Given the description of an element on the screen output the (x, y) to click on. 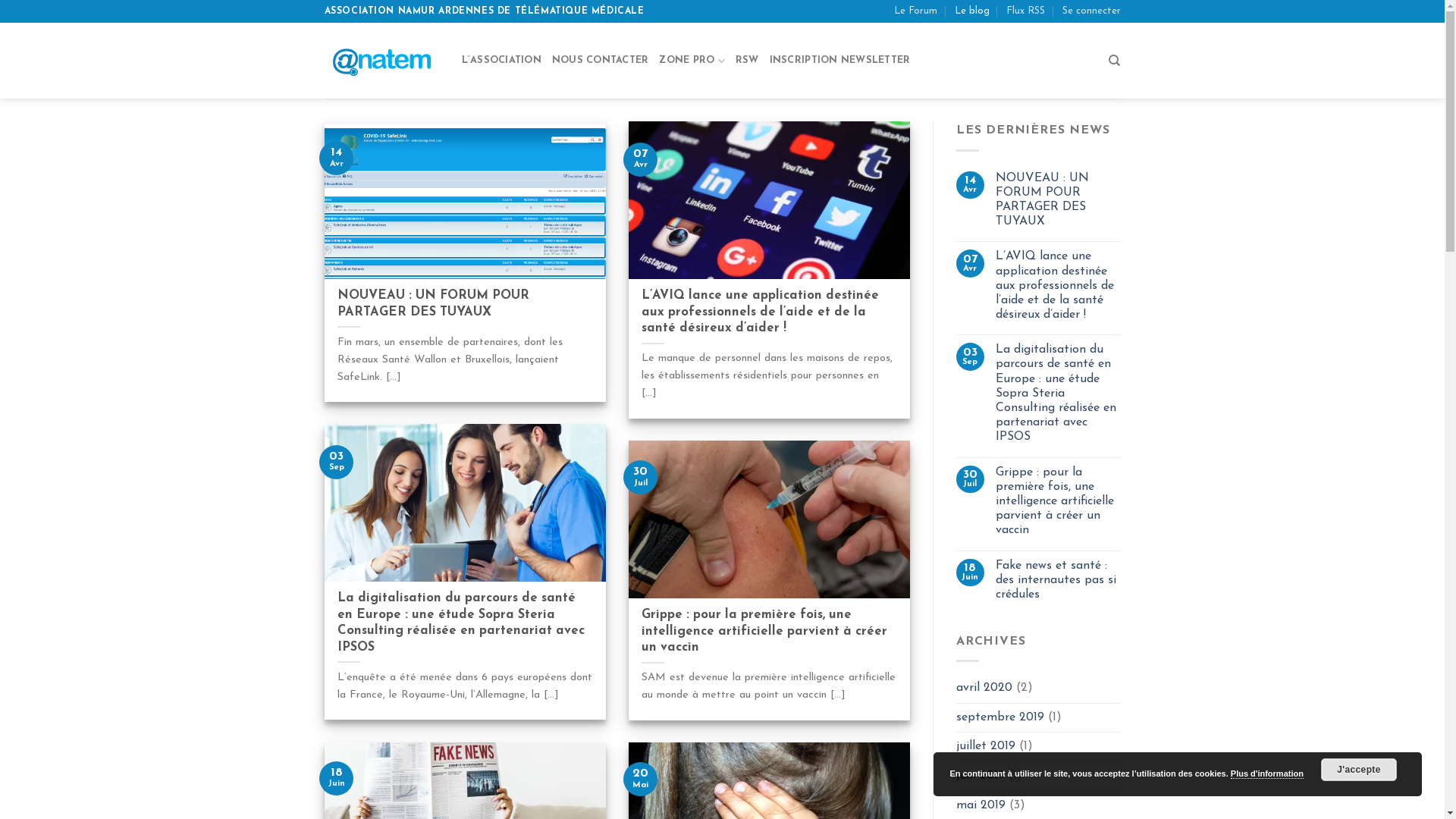
Le blog Element type: text (971, 11)
INSCRIPTION NEWSLETTER Element type: text (839, 60)
avril 2020 Element type: text (984, 688)
Se connecter Element type: text (1090, 11)
NOUVEAU : UN FORUM POUR PARTAGER DES TUYAUX Element type: text (1057, 200)
Le Forum Element type: text (915, 11)
juin 2019 Element type: text (980, 776)
Flux RSS Element type: text (1025, 11)
RSW Element type: text (747, 60)
juillet 2019 Element type: text (985, 746)
septembre 2019 Element type: text (1000, 717)
J'accepte Element type: text (1358, 769)
ZONE PRO Element type: text (691, 60)
Plus d'information Element type: text (1266, 773)
NOUS CONTACTER Element type: text (600, 60)
